Given the description of an element on the screen output the (x, y) to click on. 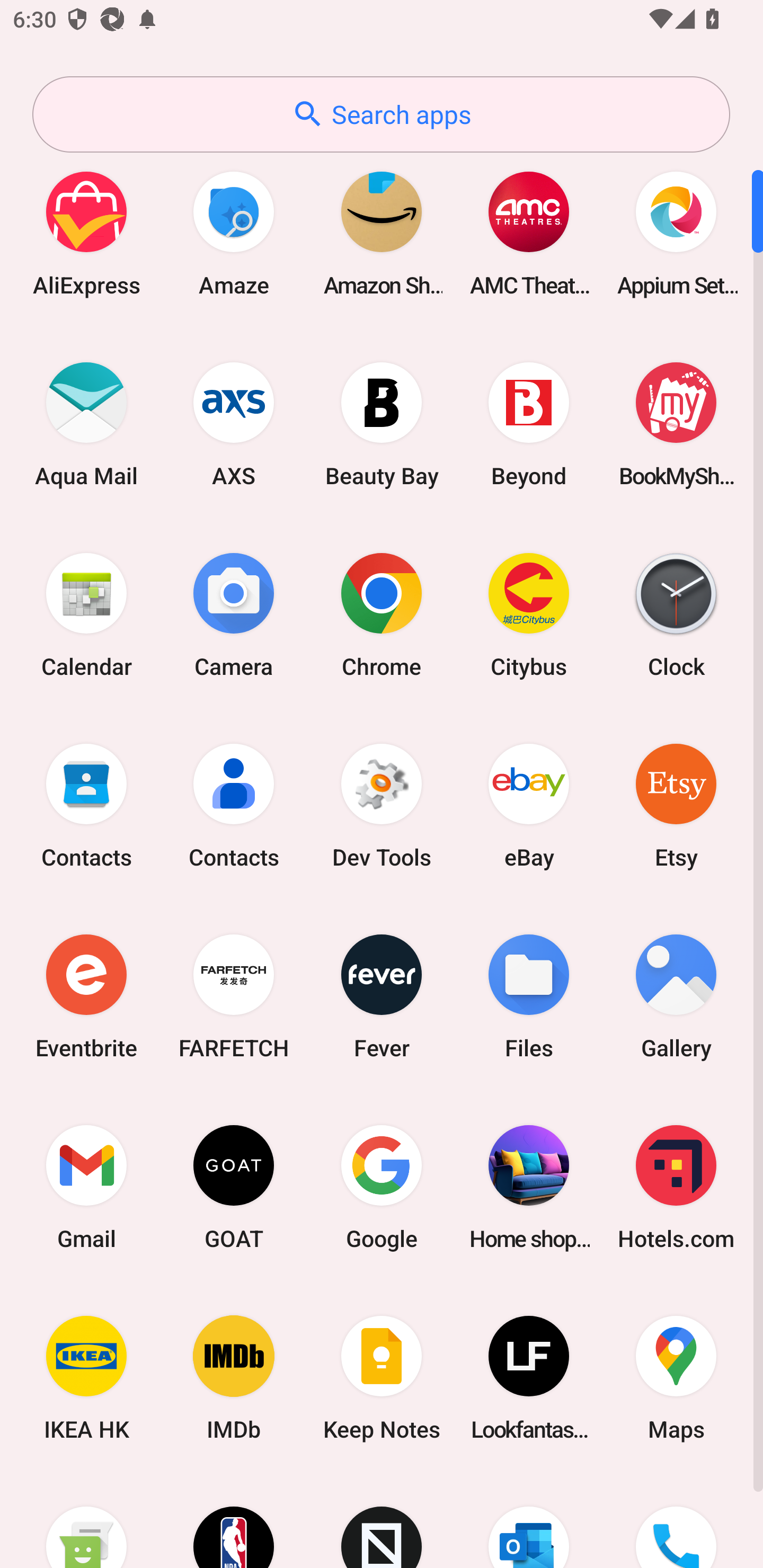
  Search apps (381, 114)
AliExpress (86, 233)
Amaze (233, 233)
Amazon Shopping (381, 233)
AMC Theatres (528, 233)
Appium Settings (676, 233)
Aqua Mail (86, 424)
AXS (233, 424)
Beauty Bay (381, 424)
Beyond (528, 424)
BookMyShow (676, 424)
Calendar (86, 614)
Camera (233, 614)
Chrome (381, 614)
Citybus (528, 614)
Clock (676, 614)
Contacts (86, 805)
Contacts (233, 805)
Dev Tools (381, 805)
eBay (528, 805)
Etsy (676, 805)
Eventbrite (86, 996)
FARFETCH (233, 996)
Fever (381, 996)
Files (528, 996)
Gallery (676, 996)
Gmail (86, 1186)
GOAT (233, 1186)
Google (381, 1186)
Home shopping (528, 1186)
Hotels.com (676, 1186)
IKEA HK (86, 1377)
IMDb (233, 1377)
Keep Notes (381, 1377)
Lookfantastic (528, 1377)
Maps (676, 1377)
